Given the description of an element on the screen output the (x, y) to click on. 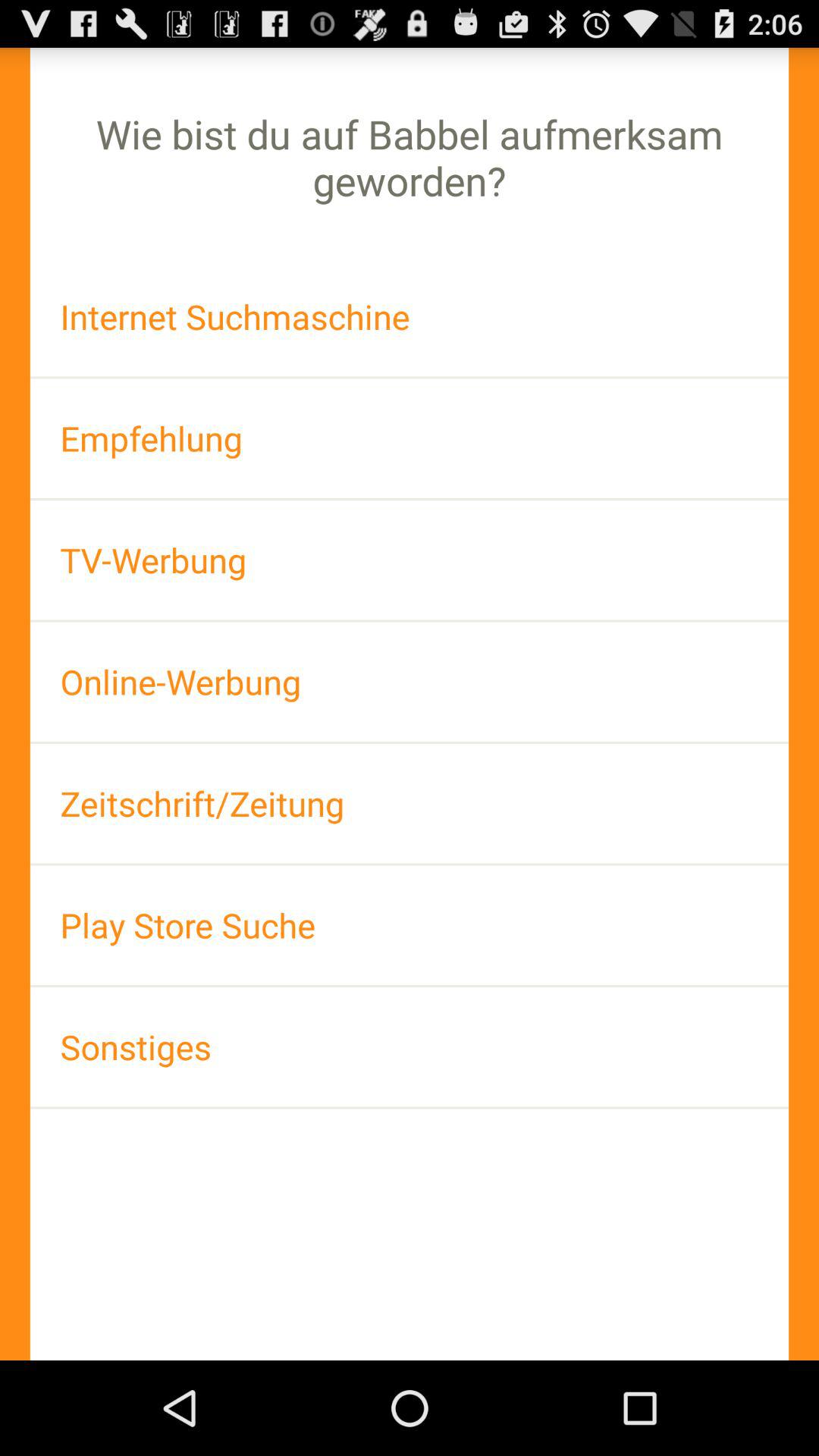
select sonstiges icon (409, 1046)
